Given the description of an element on the screen output the (x, y) to click on. 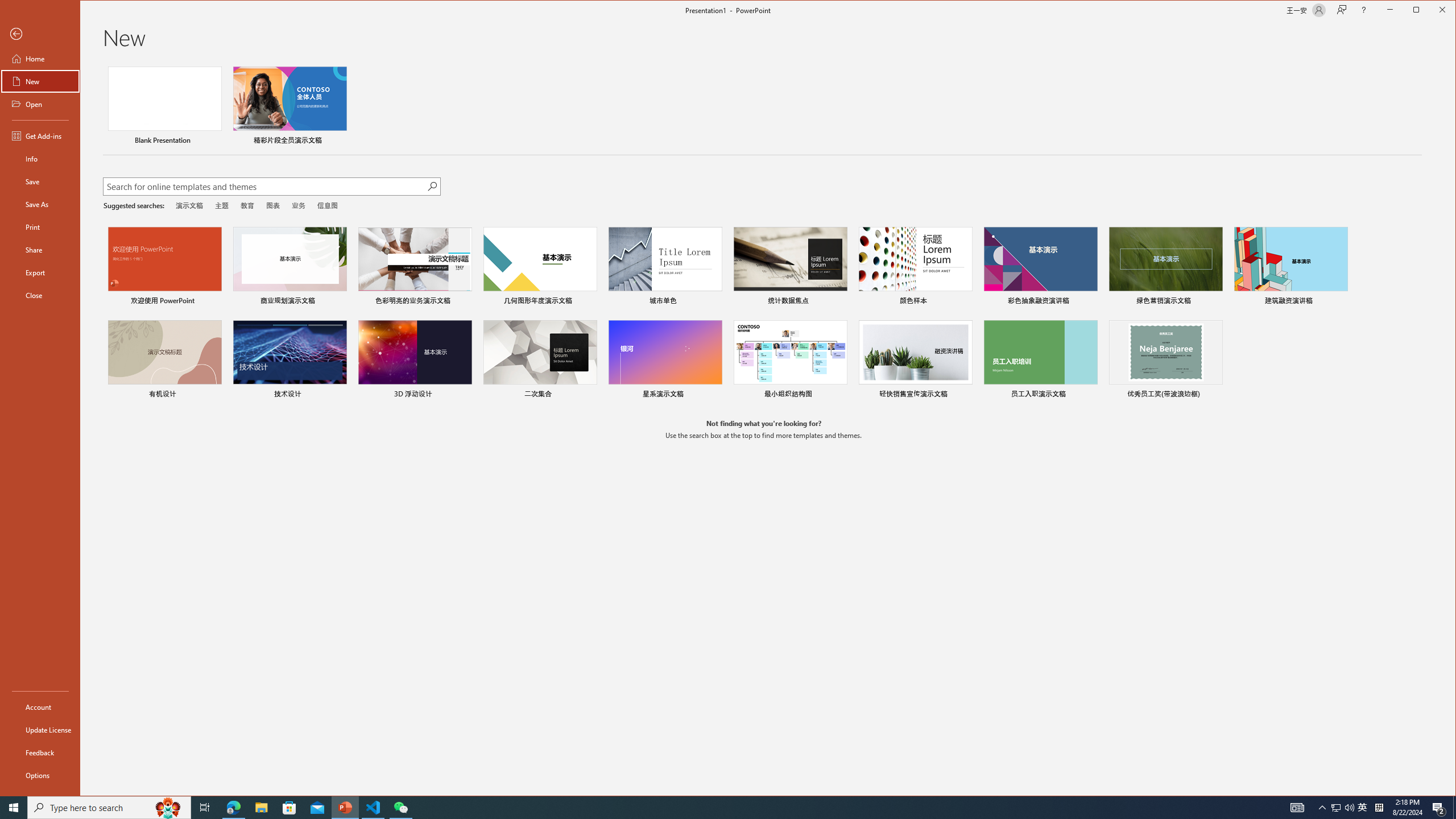
Back (40, 34)
Info (40, 158)
